Given the description of an element on the screen output the (x, y) to click on. 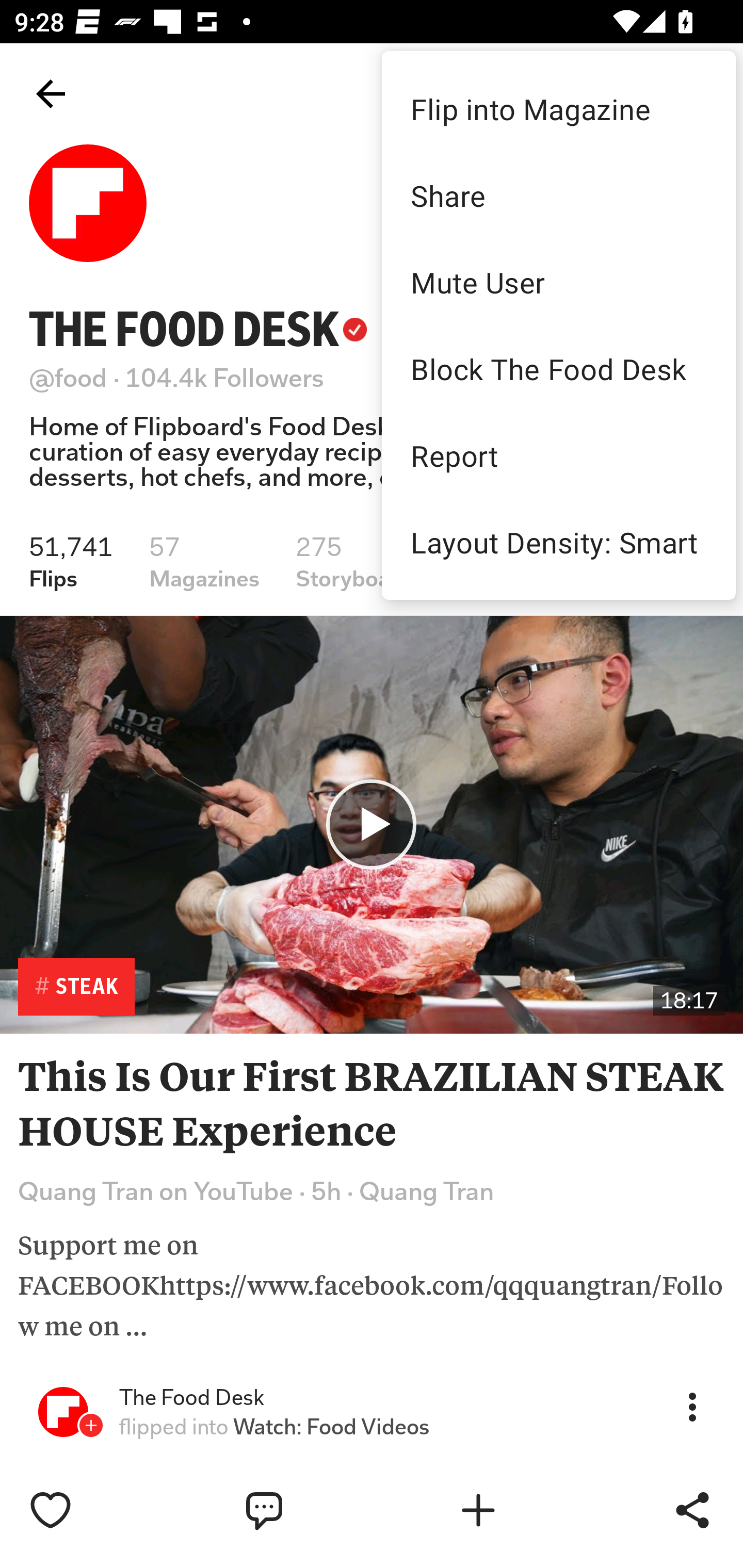
Flip into Magazine (558, 108)
Share (558, 195)
Mute User (558, 282)
Block The Food Desk (558, 369)
Report (558, 455)
Layout Density: Smart (558, 541)
